Given the description of an element on the screen output the (x, y) to click on. 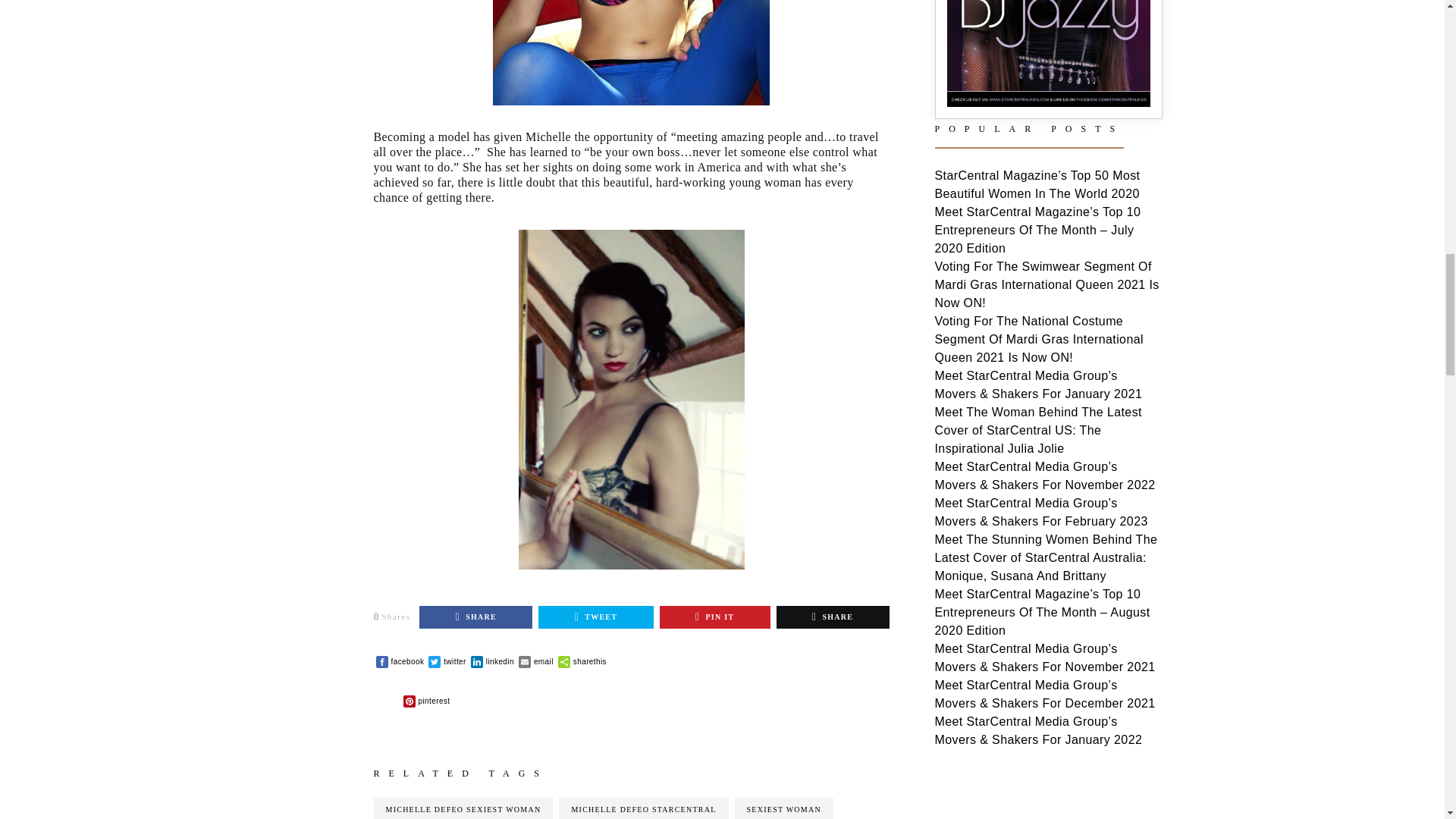
SHARE (475, 617)
